Given the description of an element on the screen output the (x, y) to click on. 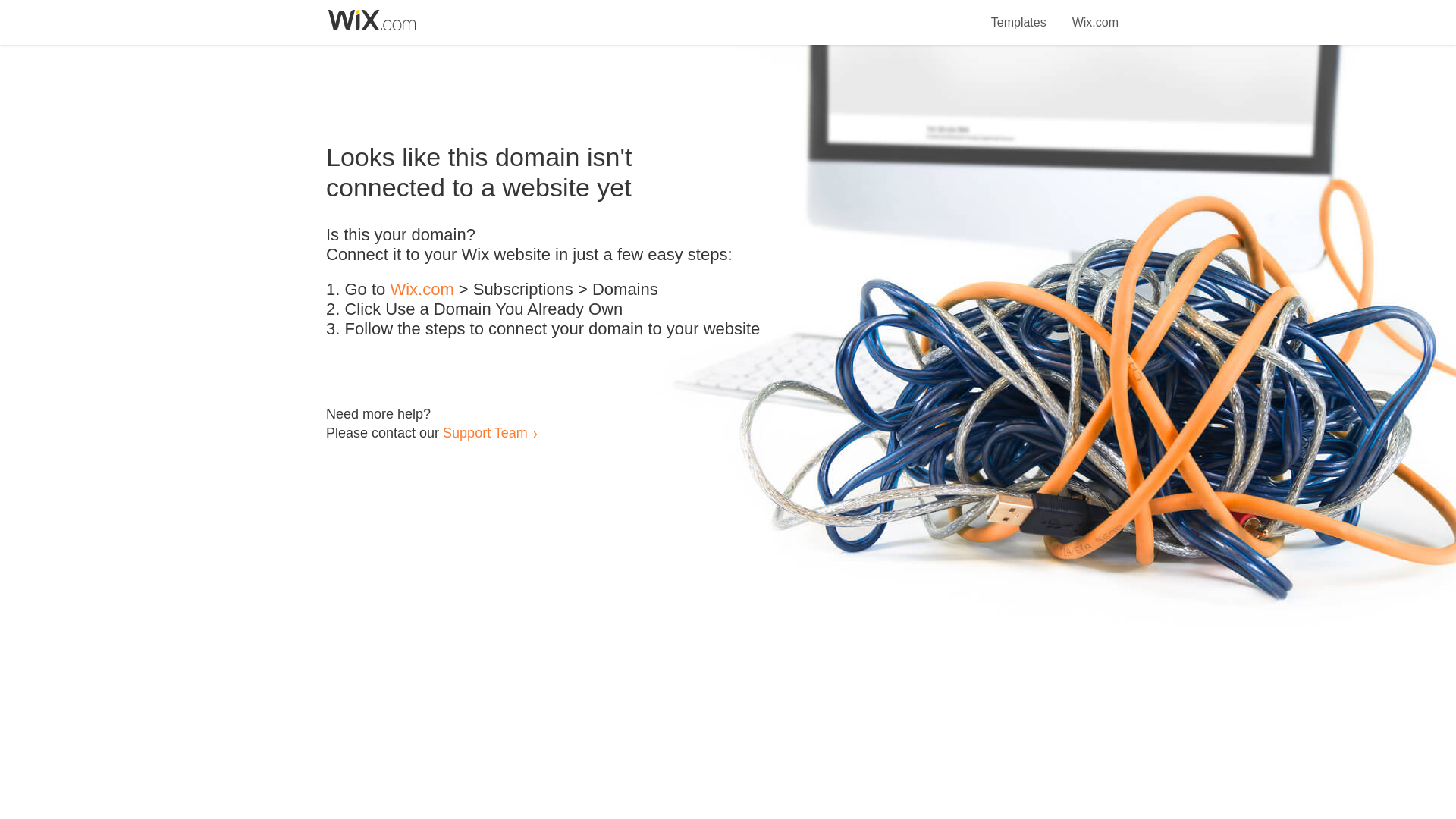
Wix.com (421, 289)
Support Team (484, 432)
Wix.com (1095, 14)
Templates (1018, 14)
